Given the description of an element on the screen output the (x, y) to click on. 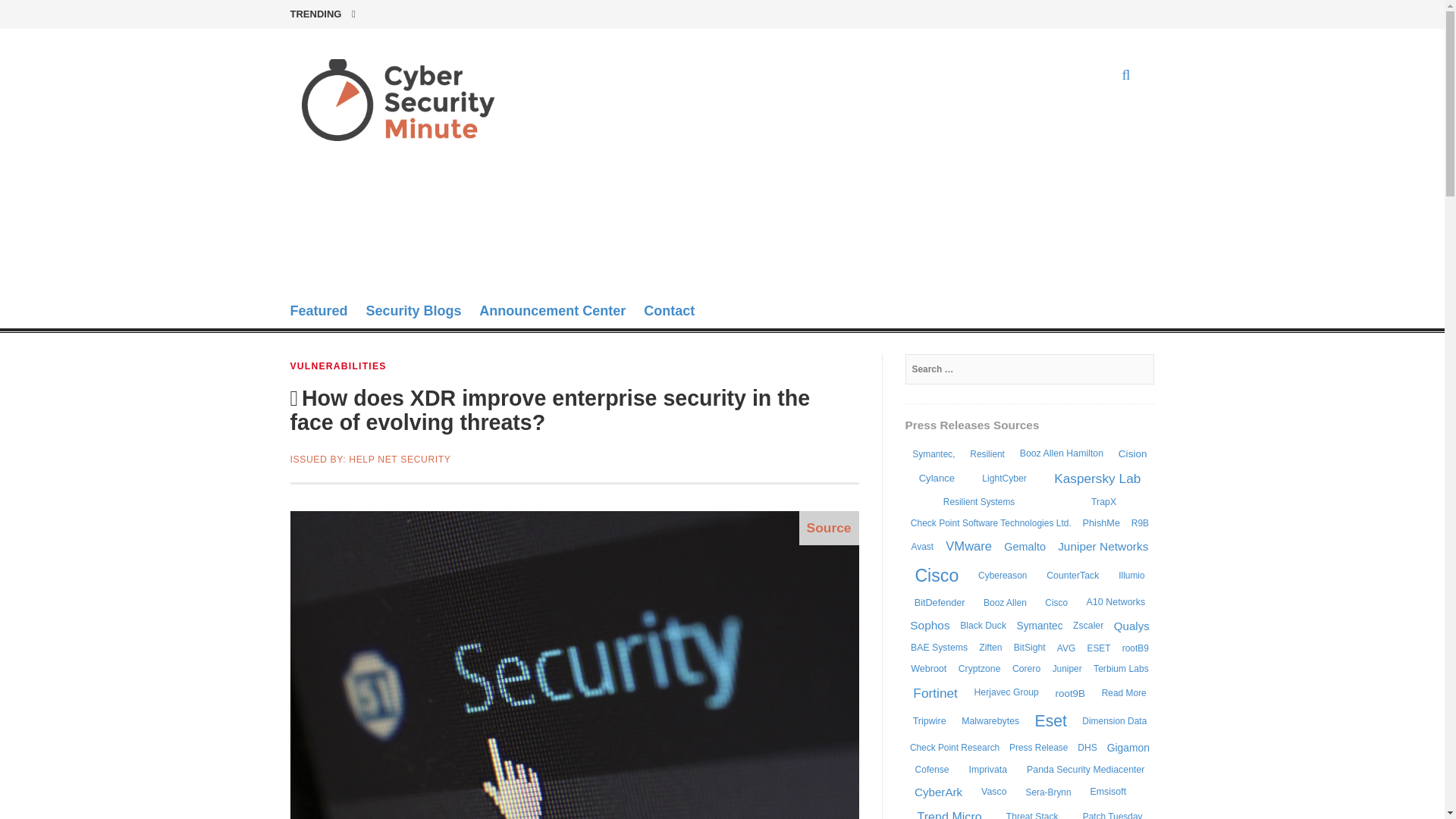
Featured (318, 313)
CYBER SECURITY MINUTE (389, 193)
Security Blogs (413, 313)
Source (828, 527)
VULNERABILITIES (337, 366)
Announcement Center (552, 313)
Contact (668, 313)
